Given the description of an element on the screen output the (x, y) to click on. 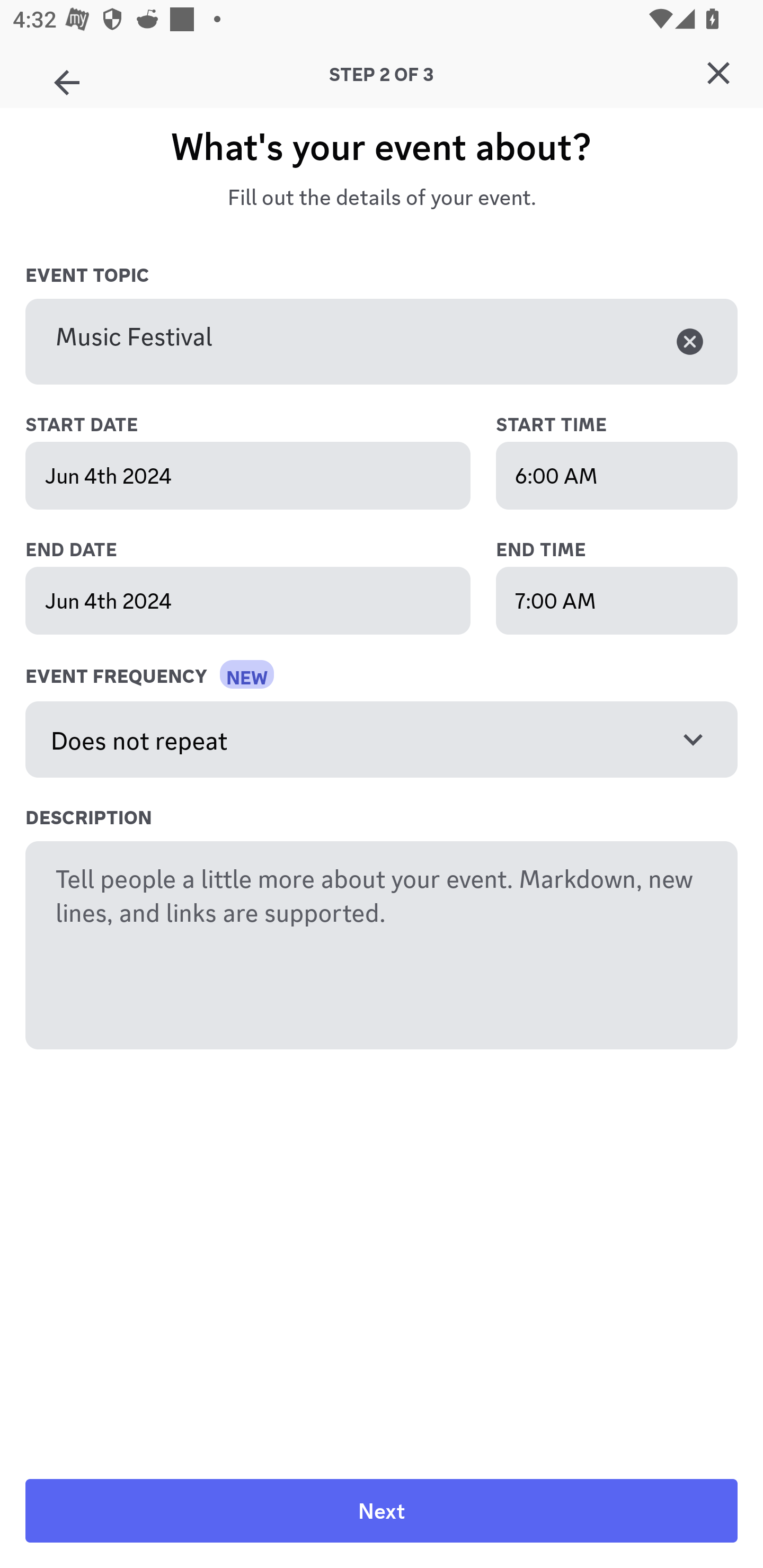
  Friends F (66, 75)
Close (718, 72)
Search (373, 165)
Music Festival Event Topic Clear (381, 341)
Clear (689, 341)
START DATE (266, 425)
START TIME (616, 425)
Start Date, Jun 4th 2024 Jun 4th 2024 (247, 475)
Start Time, 6:00 AM 6:00 AM (616, 475)
END DATE (266, 550)
END TIME (616, 550)
End Date, Jun 4th 2024 Jun 4th 2024 (247, 600)
End Time, 7:00 AM 7:00 AM (616, 600)
Event Frequency Does not repeat (381, 738)
Next (381, 1510)
